Given the description of an element on the screen output the (x, y) to click on. 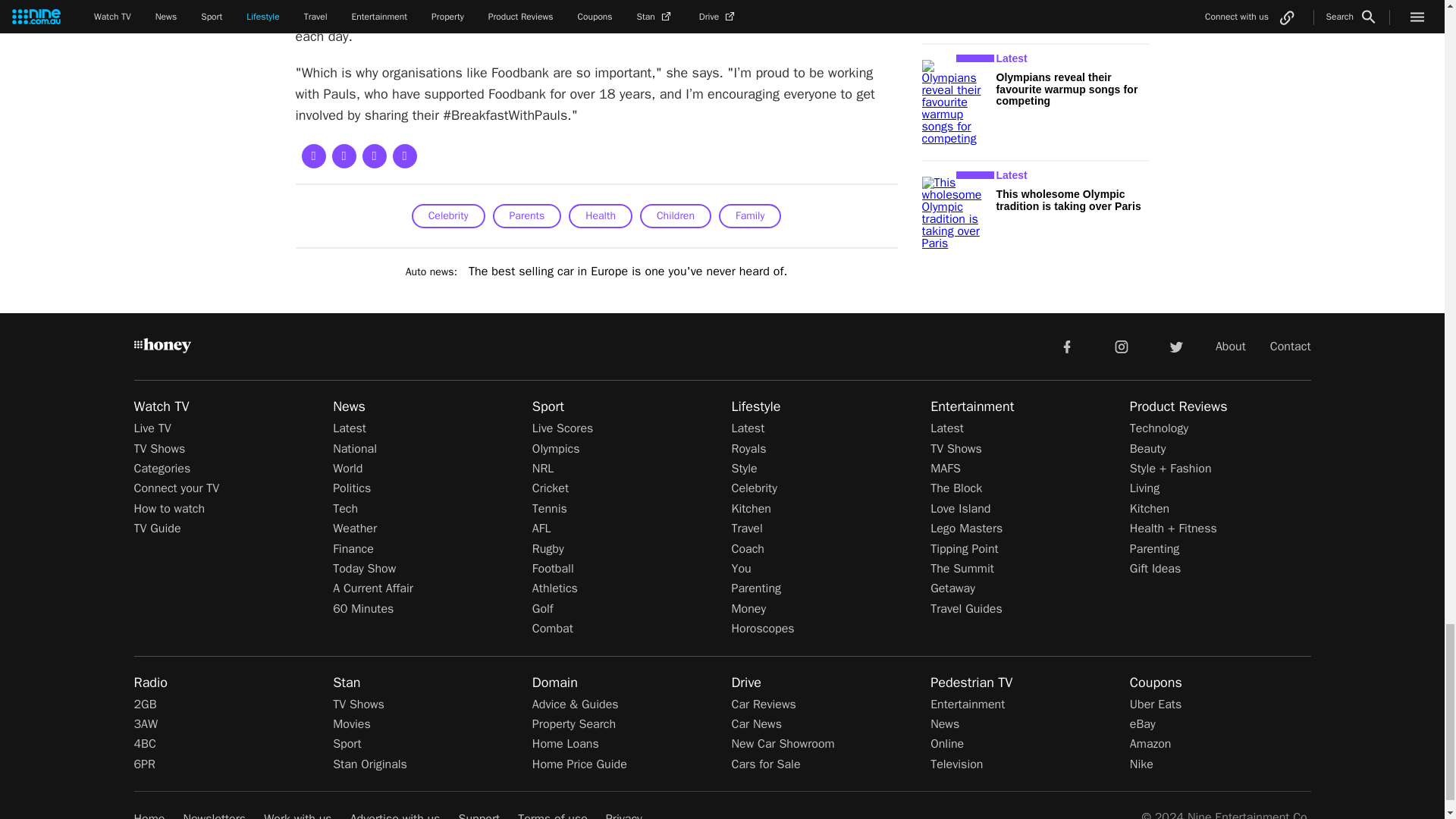
instagram (1121, 345)
Children (675, 215)
Family (749, 215)
Parents (527, 215)
twitter (1175, 345)
Celebrity (448, 215)
facebook (1066, 345)
Health (600, 215)
